Given the description of an element on the screen output the (x, y) to click on. 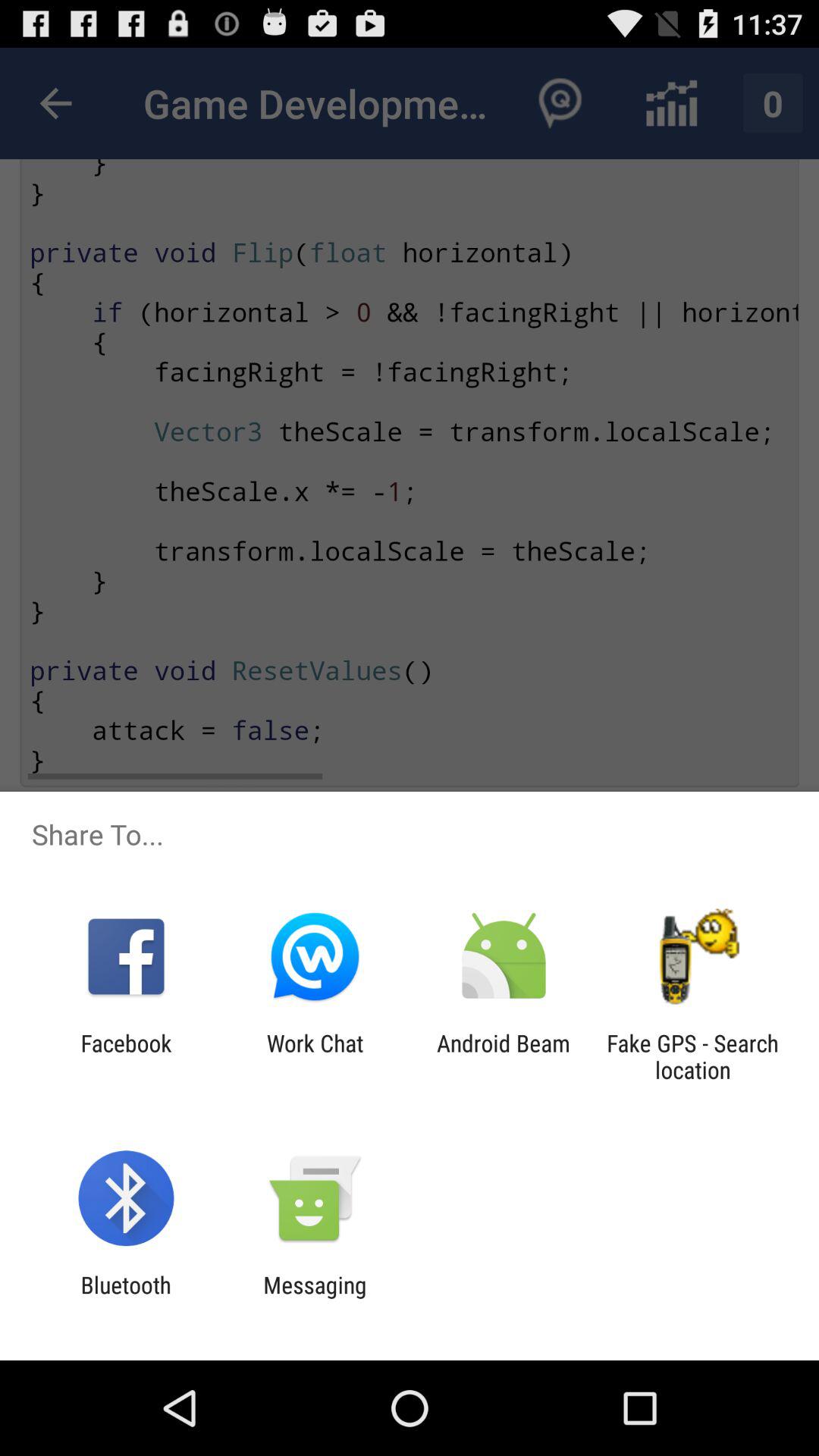
turn off the messaging icon (314, 1298)
